Given the description of an element on the screen output the (x, y) to click on. 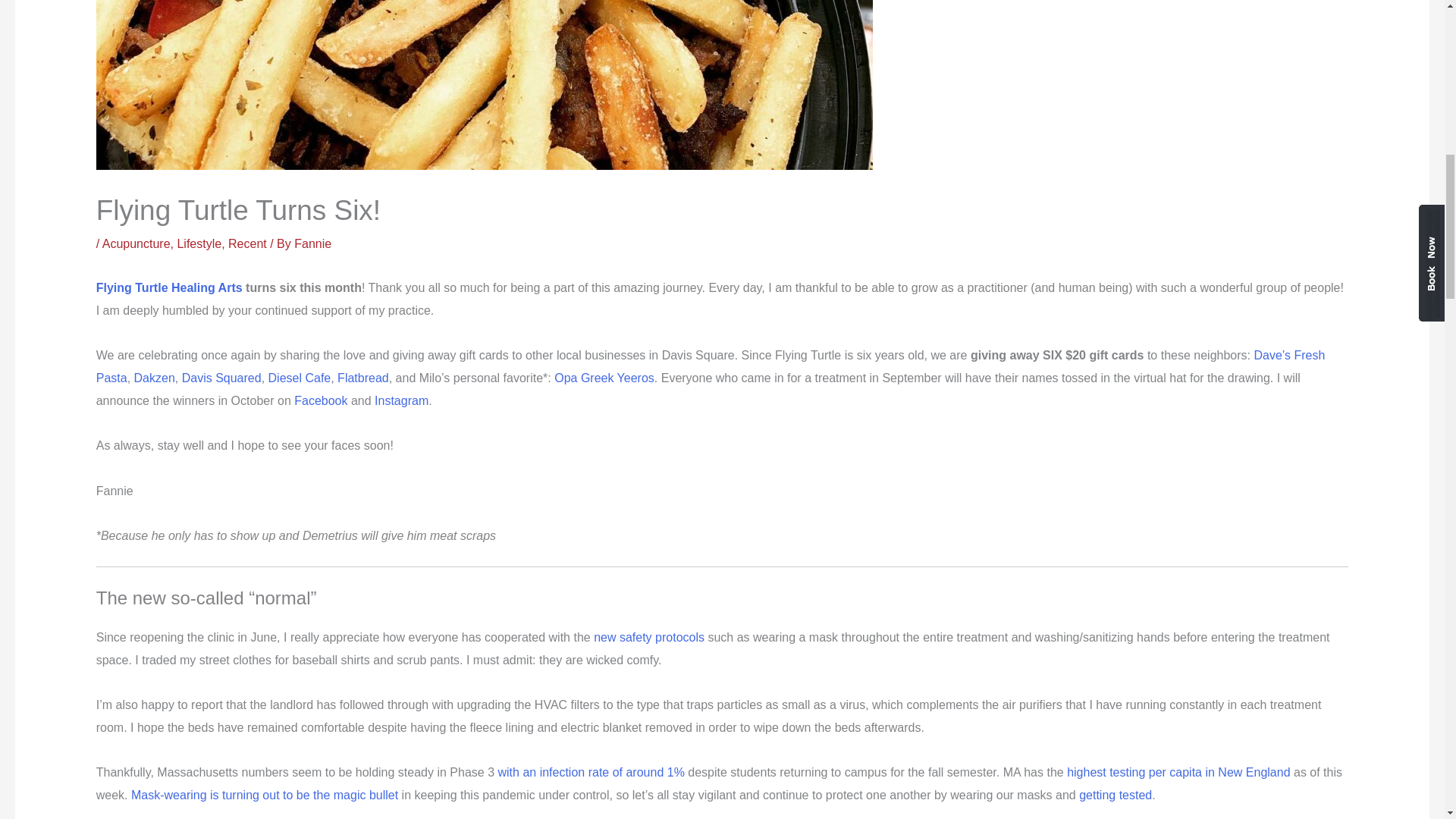
Instagram (401, 400)
Diesel Cafe (299, 377)
highest testing per capita in New England (1178, 771)
View all posts by Fannie (312, 243)
Acupuncture (135, 243)
Facebook (320, 400)
Dakzen (153, 377)
Lifestyle (198, 243)
new safety protocols (649, 636)
getting tested (1114, 794)
Flying Turtle Healing Arts (169, 287)
Flatbread (362, 377)
Davis Squared (222, 377)
Fannie (312, 243)
Opa Greek Yeeros (603, 377)
